Given the description of an element on the screen output the (x, y) to click on. 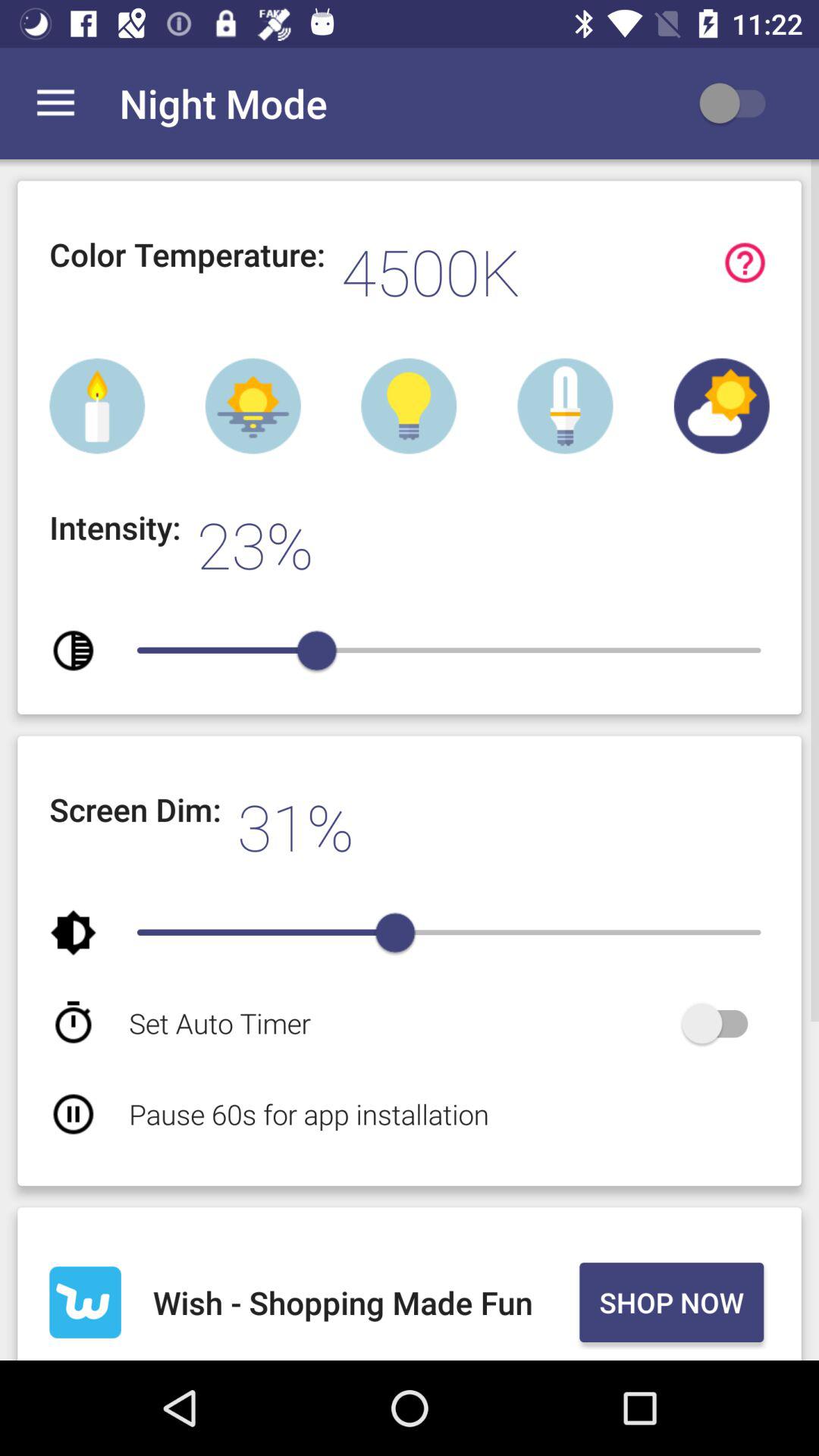
get more information about the definition of the color temperature (744, 262)
